Given the description of an element on the screen output the (x, y) to click on. 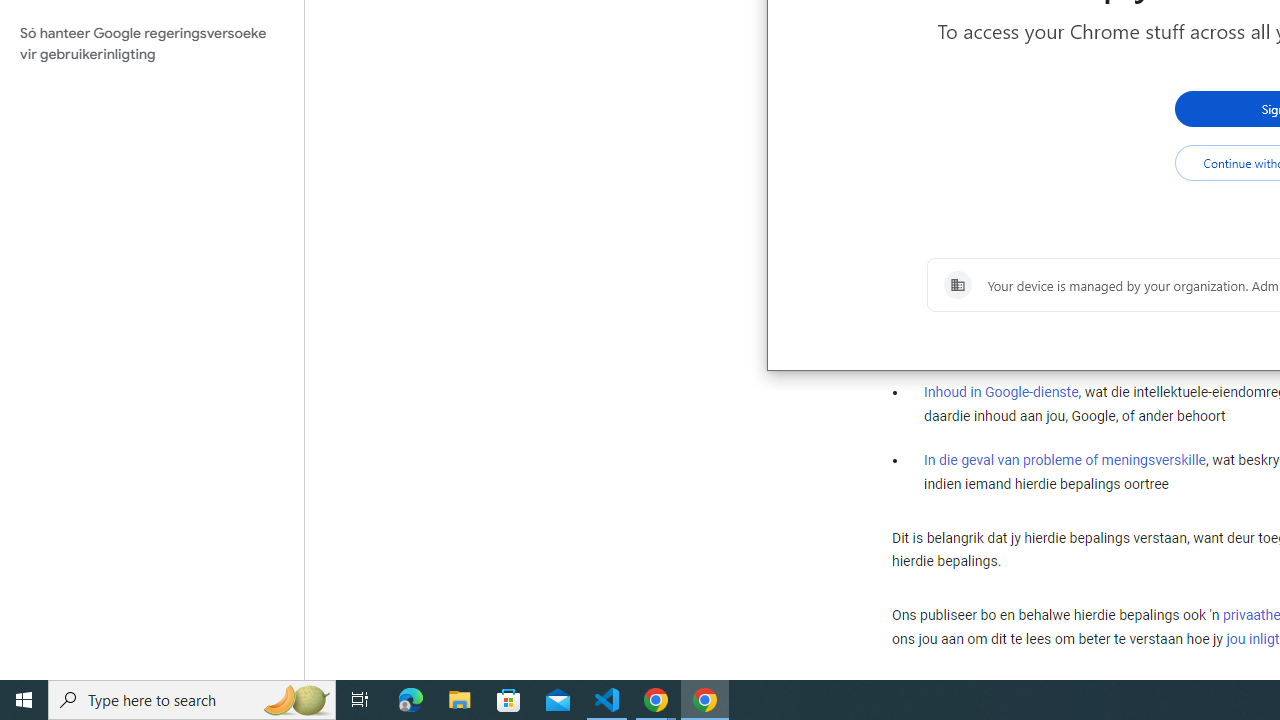
Inhoud in Google-dienste (1001, 392)
